Given the description of an element on the screen output the (x, y) to click on. 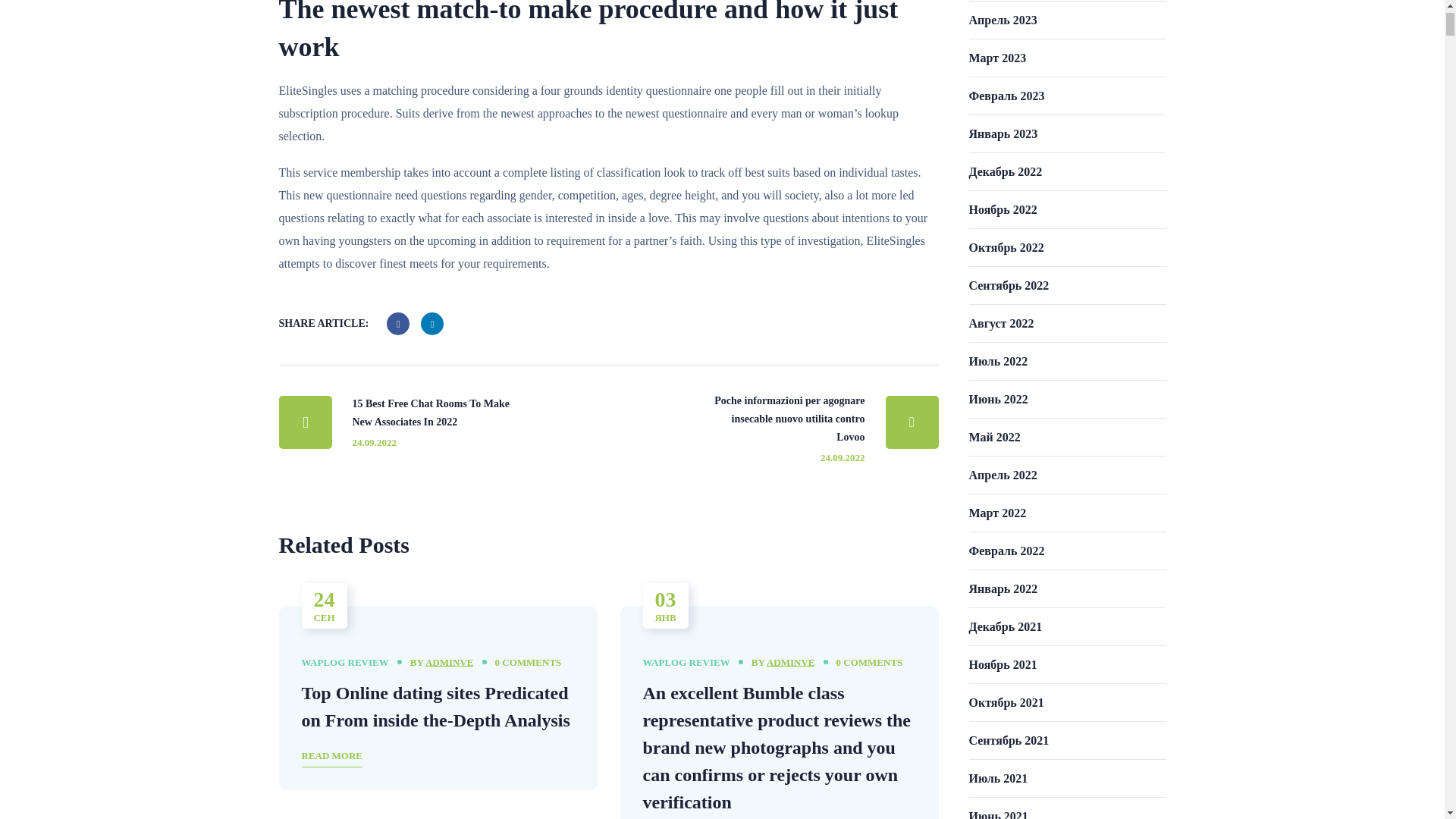
ADMINVE (791, 662)
0 COMMENTS (868, 662)
WAPLOG REVIEW (344, 662)
15 Best Free Chat Rooms To Make New Associates In 2022 (419, 421)
0 COMMENTS (528, 662)
Leave a reply (528, 662)
